Given the description of an element on the screen output the (x, y) to click on. 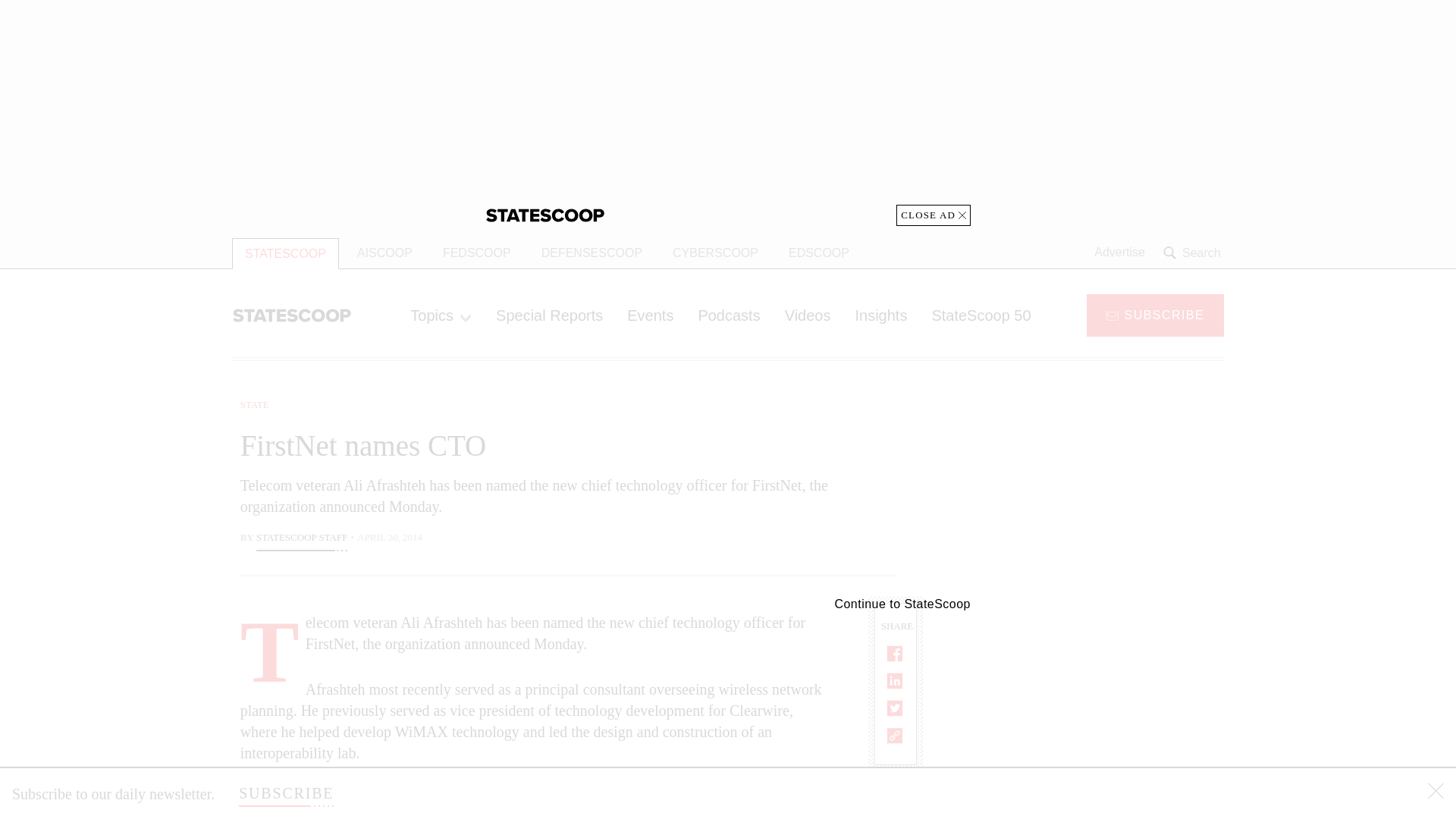
SUBSCRIBE (285, 793)
Events (649, 315)
3rd party ad content (1101, 492)
STATESCOOP STAFF (301, 539)
Topics (440, 315)
Special Reports (548, 315)
Advertise (1119, 252)
FEDSCOOP (476, 253)
EDSCOOP (818, 253)
